Given the description of an element on the screen output the (x, y) to click on. 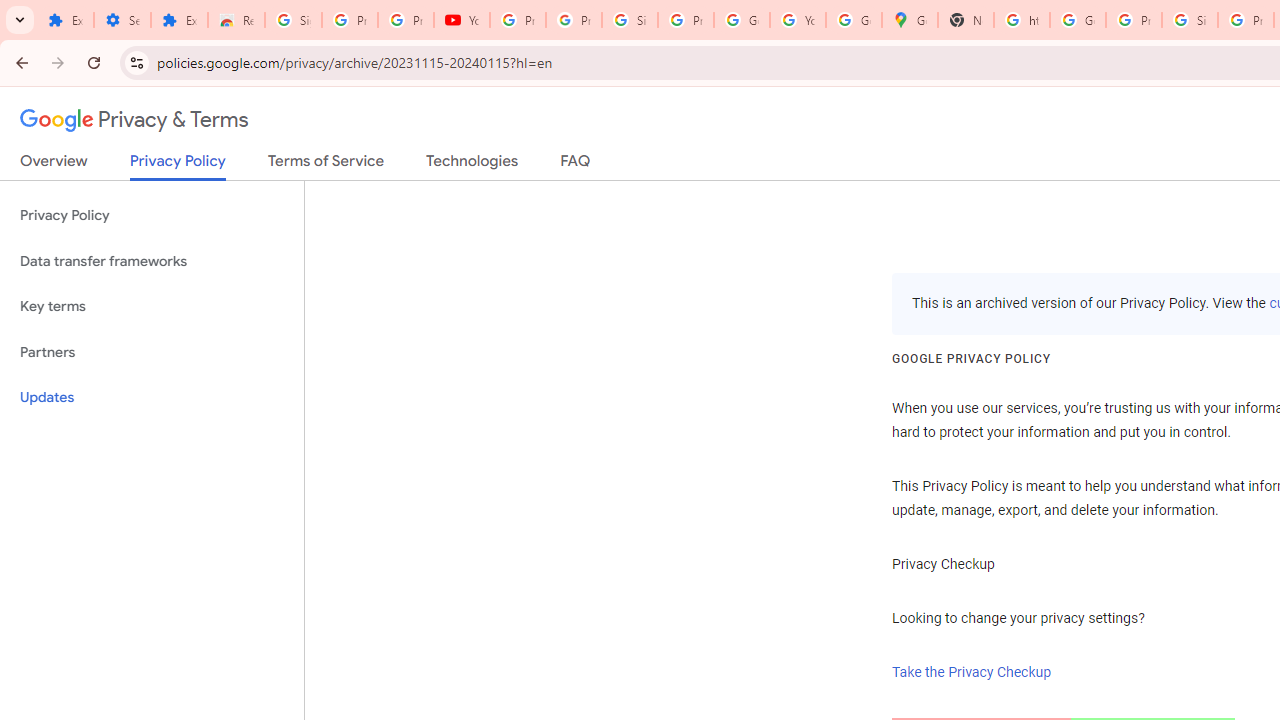
https://scholar.google.com/ (1021, 20)
Reviews: Helix Fruit Jump Arcade Game (235, 20)
Extensions (65, 20)
Sign in - Google Accounts (629, 20)
YouTube (461, 20)
